Given the description of an element on the screen output the (x, y) to click on. 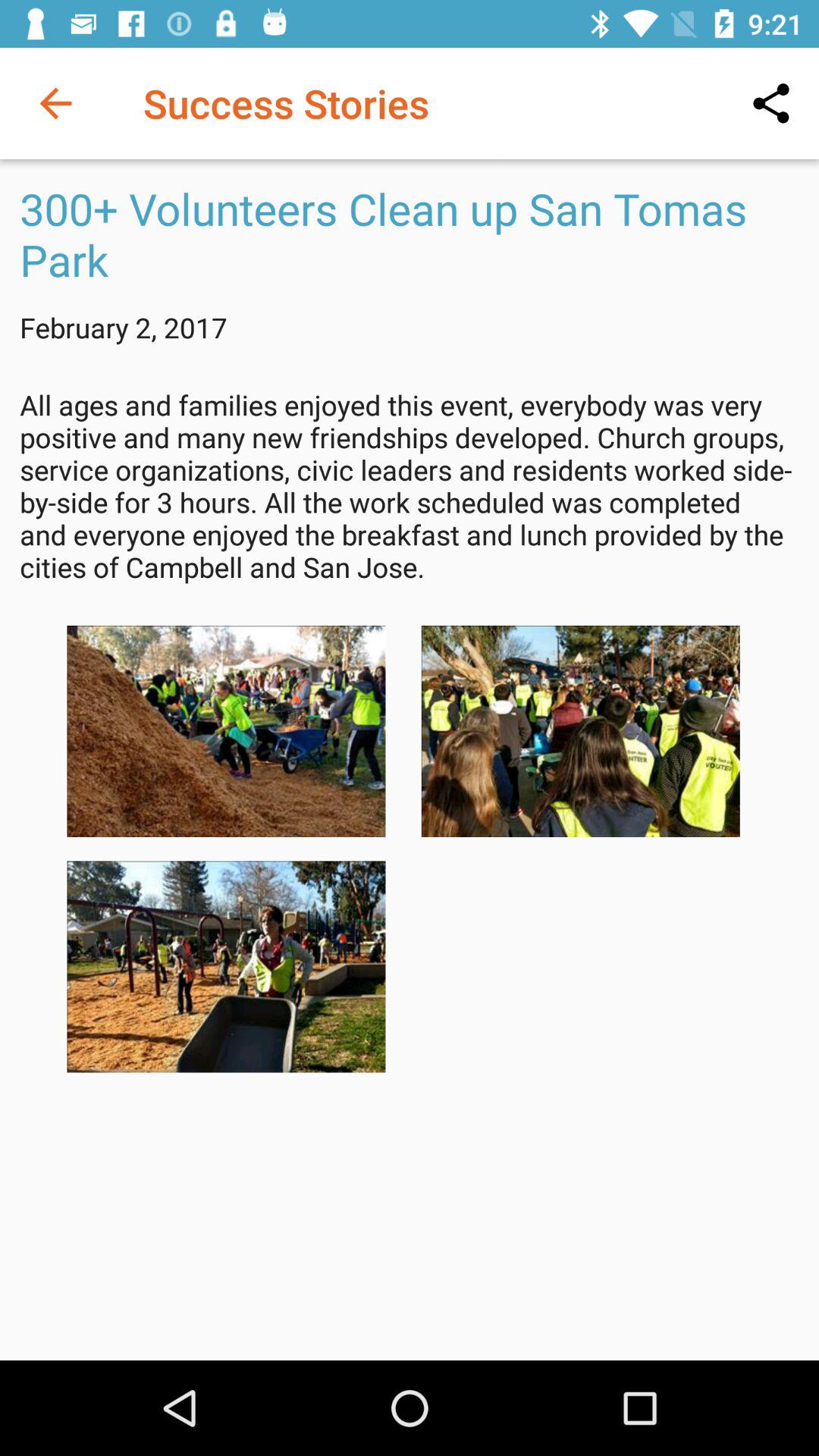
select pic (226, 966)
